Given the description of an element on the screen output the (x, y) to click on. 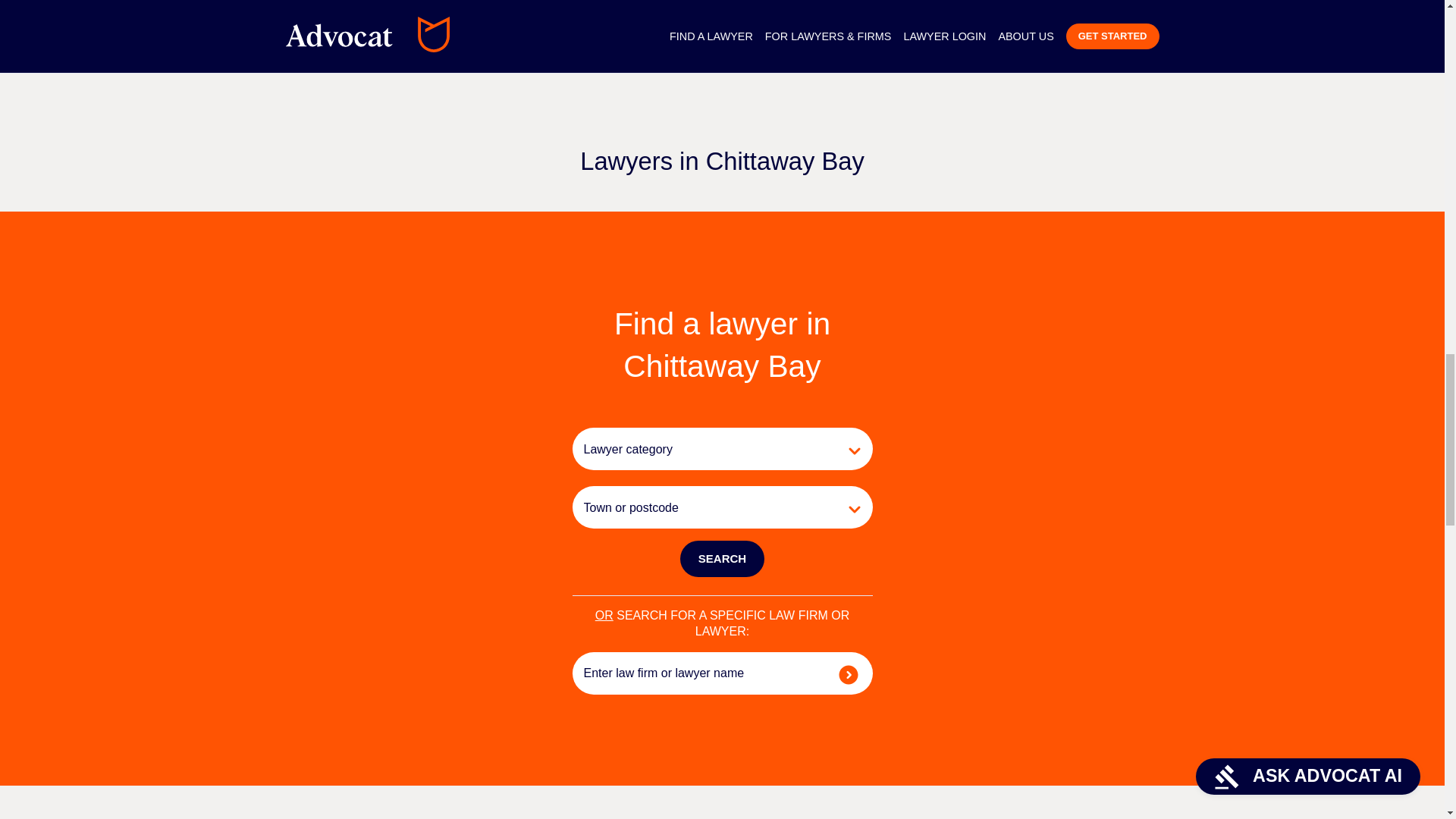
Open (854, 451)
Open (854, 509)
SEARCH (721, 558)
